Given the description of an element on the screen output the (x, y) to click on. 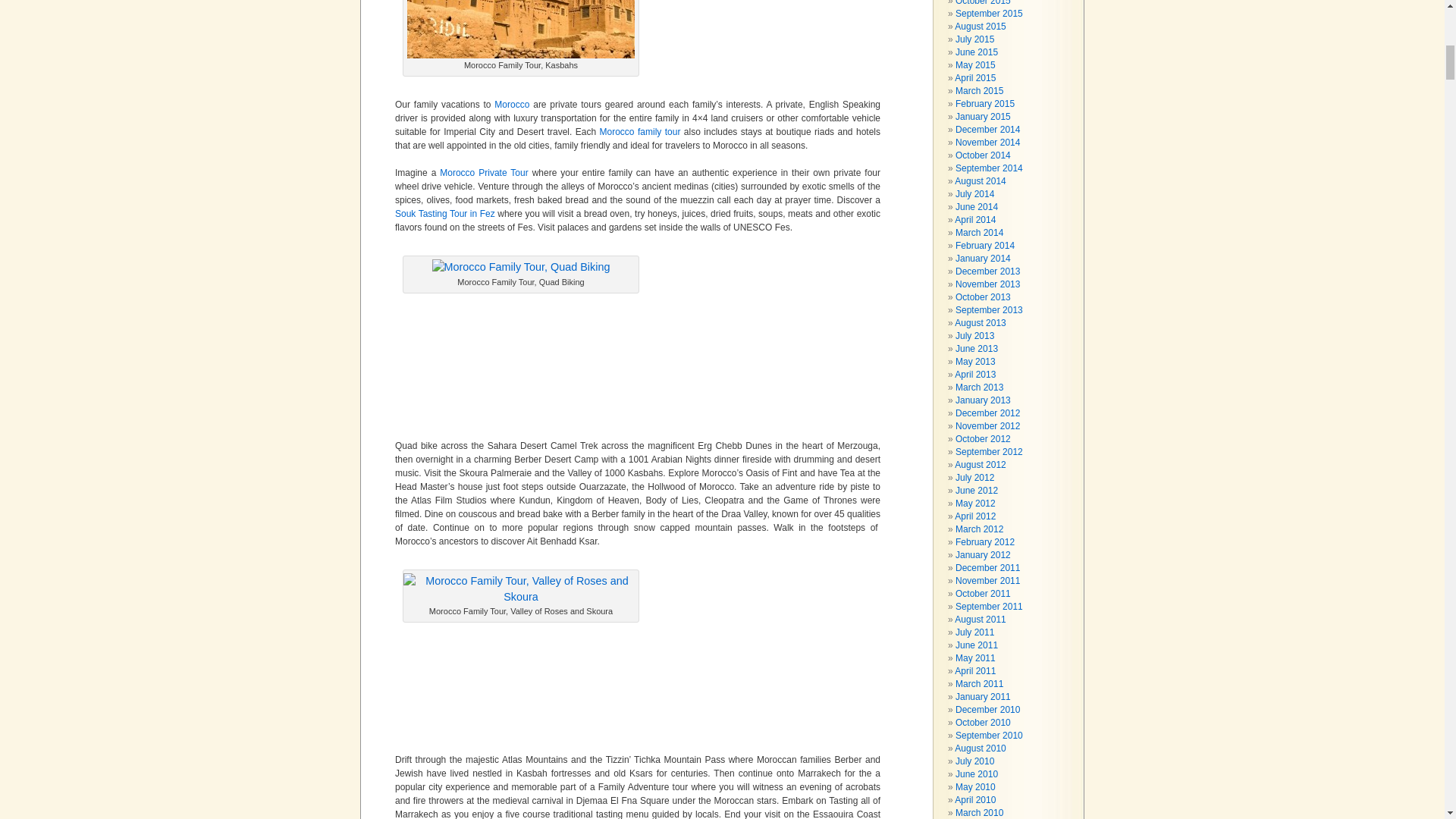
Morocco (512, 104)
Souk Tasting Tour in Fez (445, 213)
Morocco Private Tour (483, 172)
Morocco family tour (641, 131)
